Given the description of an element on the screen output the (x, y) to click on. 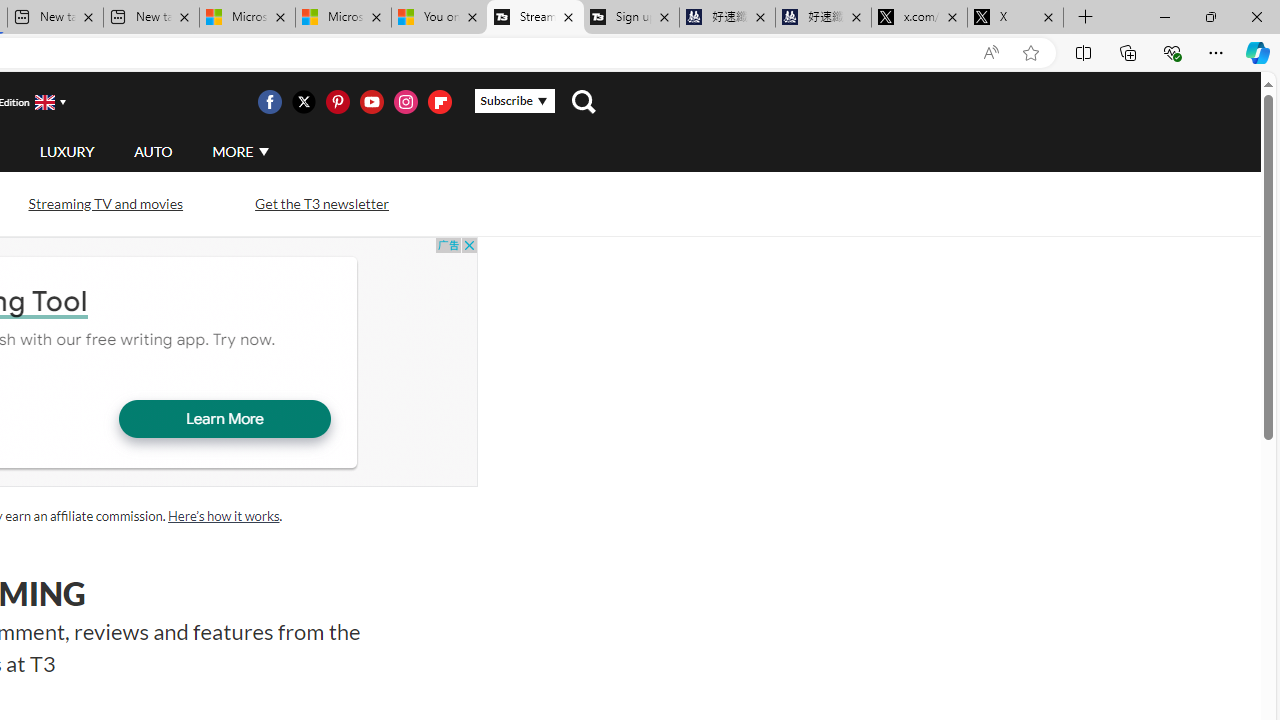
Get the T3 newsletter (322, 204)
Class: icon-svg (439, 101)
Microsoft Start (342, 17)
Streaming TV and movies (105, 204)
Streaming TV and movies (105, 202)
Visit us on Instagram (405, 101)
Class: navigation__search (583, 101)
AUTO (153, 151)
Visit us on Flipboard (439, 101)
